Given the description of an element on the screen output the (x, y) to click on. 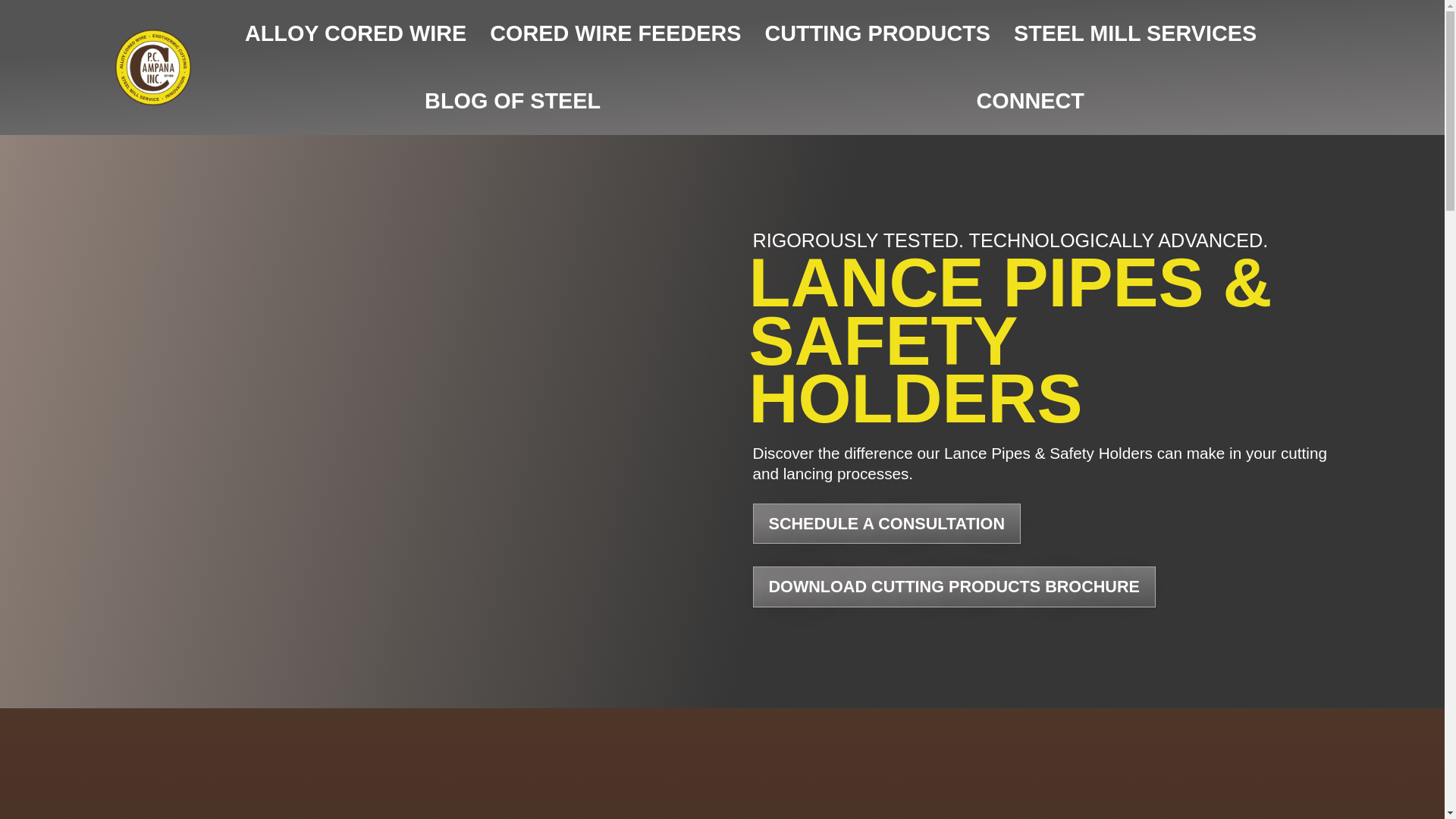
BLOG OF STEEL (512, 101)
STEEL MILL SERVICES (1135, 33)
CORED WIRE FEEDERS (615, 33)
CUTTING PRODUCTS (877, 33)
DOWNLOAD CUTTING PRODUCTS BROCHURE (953, 586)
SCHEDULE A CONSULTATION (886, 523)
CONNECT (1030, 101)
ALLOY CORED WIRE (354, 33)
